Given the description of an element on the screen output the (x, y) to click on. 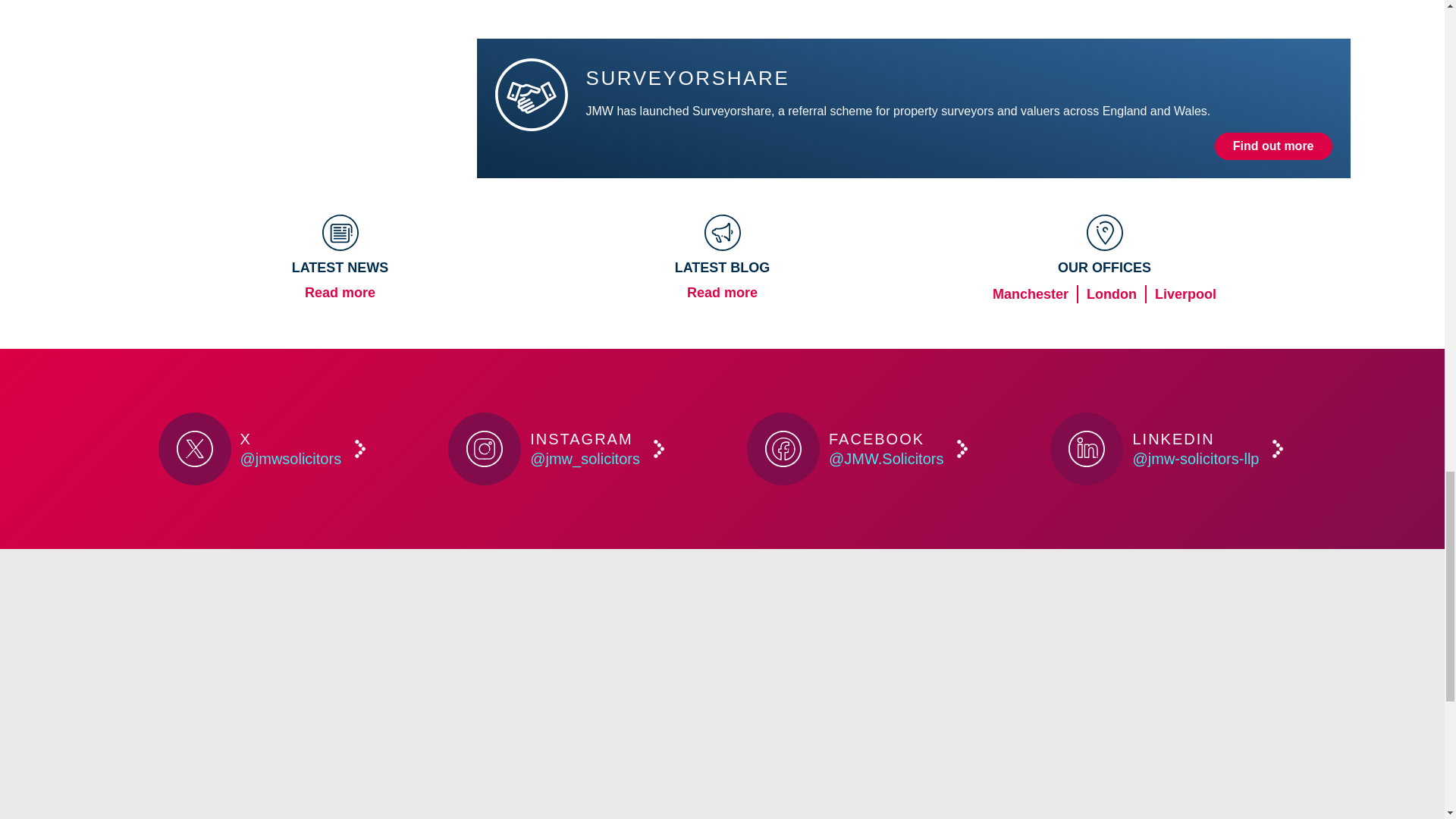
Manchester (1030, 294)
Find out more (1273, 145)
Solicitors Regulation Authority website verification (1224, 695)
London (1111, 294)
Read more (339, 293)
Read more (722, 293)
Liverpool (1184, 294)
